Given the description of an element on the screen output the (x, y) to click on. 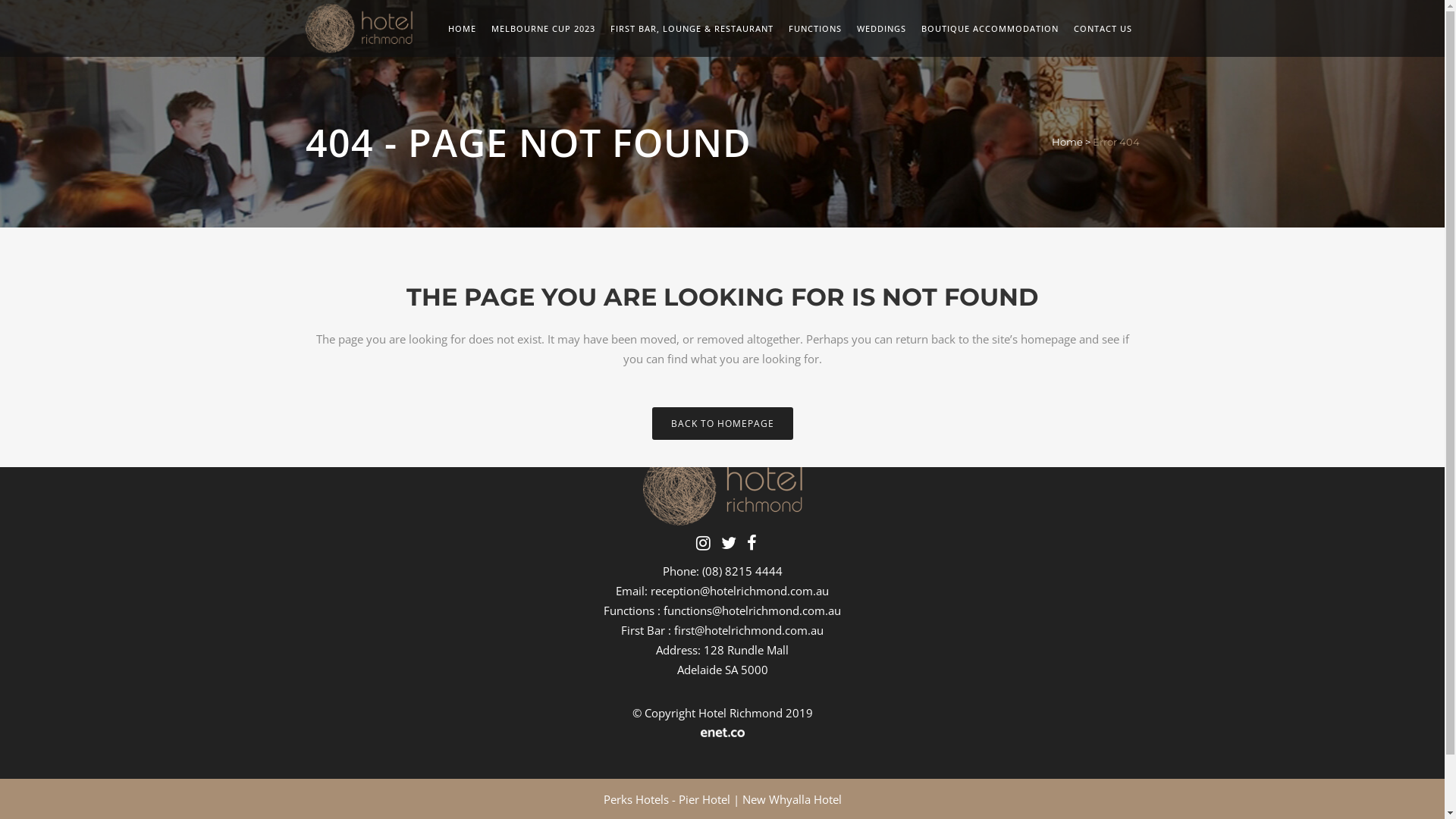
Home Element type: text (1066, 141)
first@hotelrichmond.com.au Element type: text (748, 629)
FIRST BAR, LOUNGE & RESTAURANT Element type: text (691, 28)
FUNCTIONS Element type: text (815, 28)
BOUTIQUE ACCOMMODATION Element type: text (989, 28)
HOME Element type: text (461, 28)
(08) 8215 4444 Element type: text (742, 570)
New Whyalla Hotel Element type: text (790, 798)
Pier Hotel Element type: text (703, 798)
BACK TO HOMEPAGE Element type: text (722, 423)
MELBOURNE CUP 2023 Element type: text (542, 28)
WEDDINGS Element type: text (881, 28)
reception@hotelrichmond.com.au Element type: text (739, 590)
functions@hotelrichmond.com.au Element type: text (751, 610)
CONTACT US Element type: text (1102, 28)
